Given the description of an element on the screen output the (x, y) to click on. 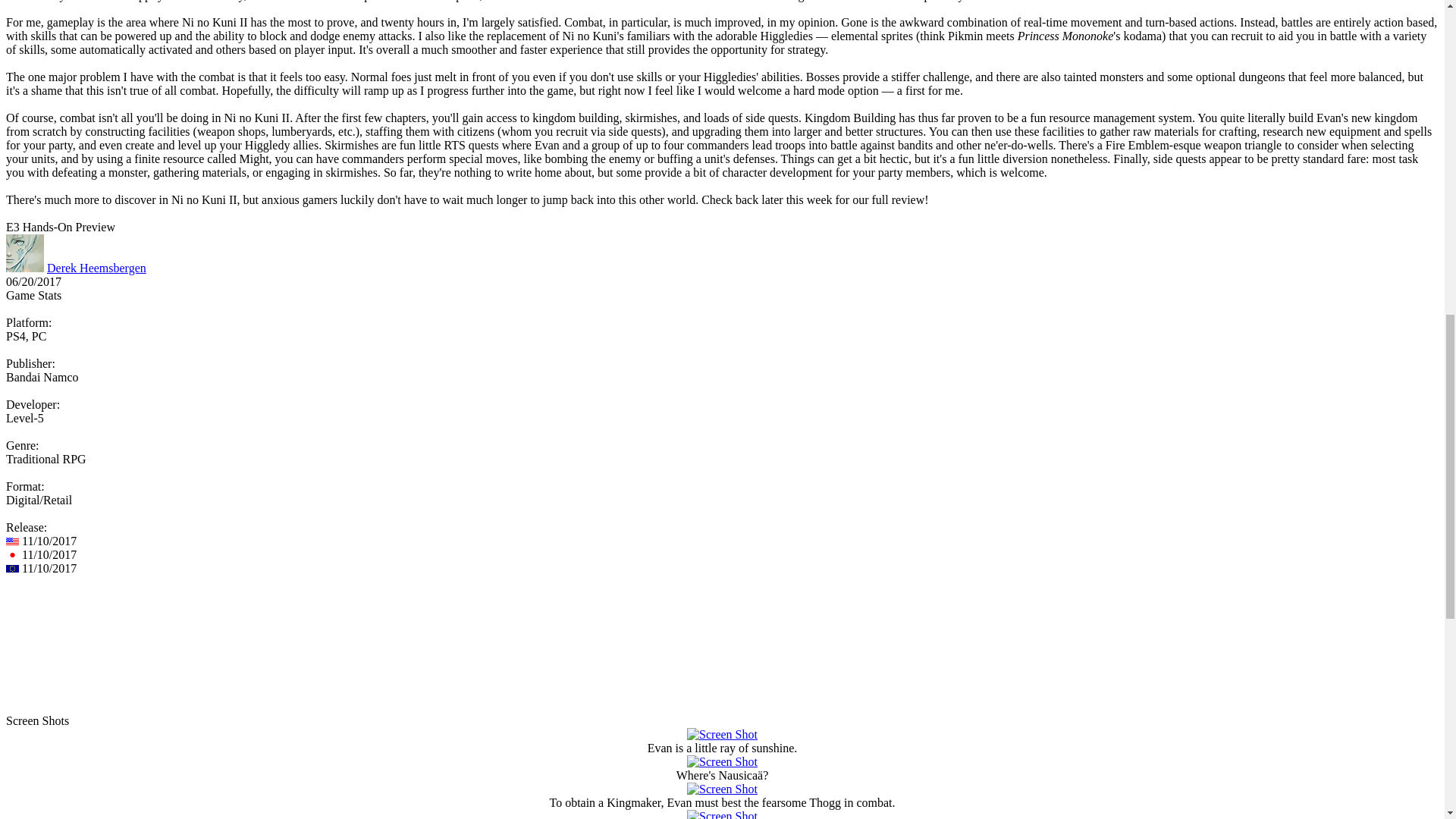
Derek Heemsbergen (96, 267)
Pre-order at Amazon.com (71, 635)
